Given the description of an element on the screen output the (x, y) to click on. 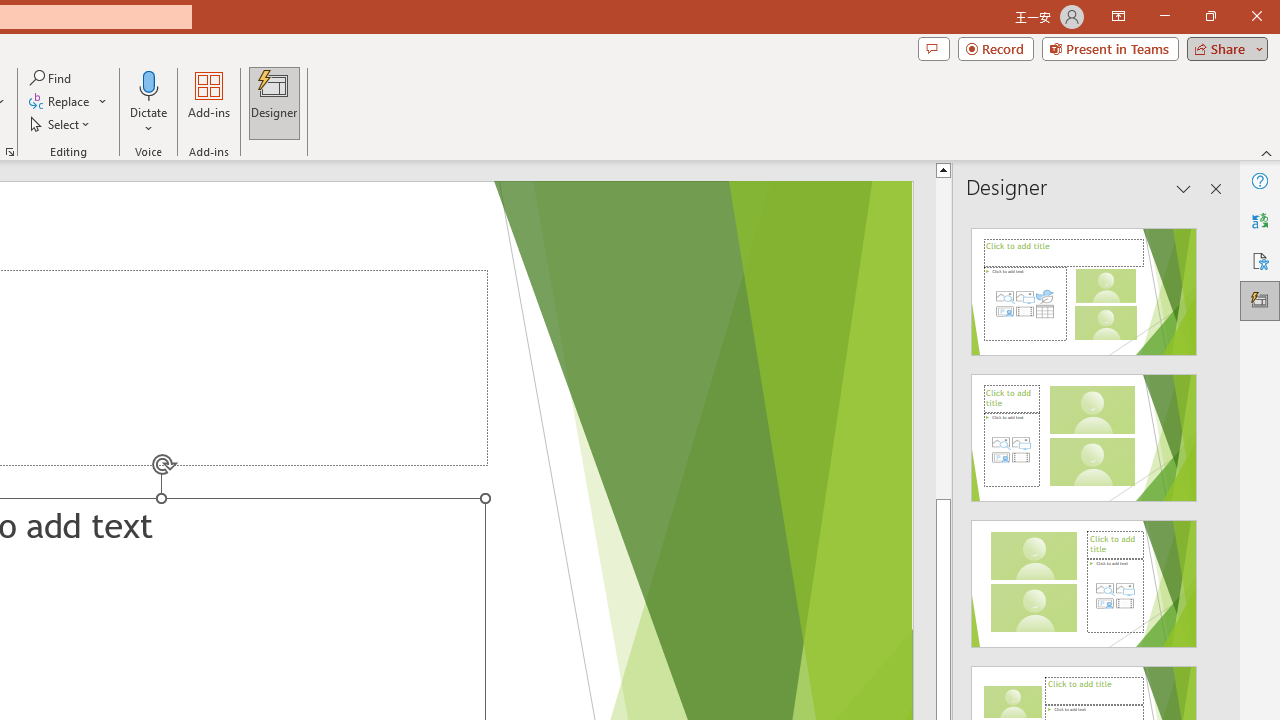
Format Object... (9, 151)
Recommended Design: Design Idea (1083, 286)
Page up (943, 337)
